Given the description of an element on the screen output the (x, y) to click on. 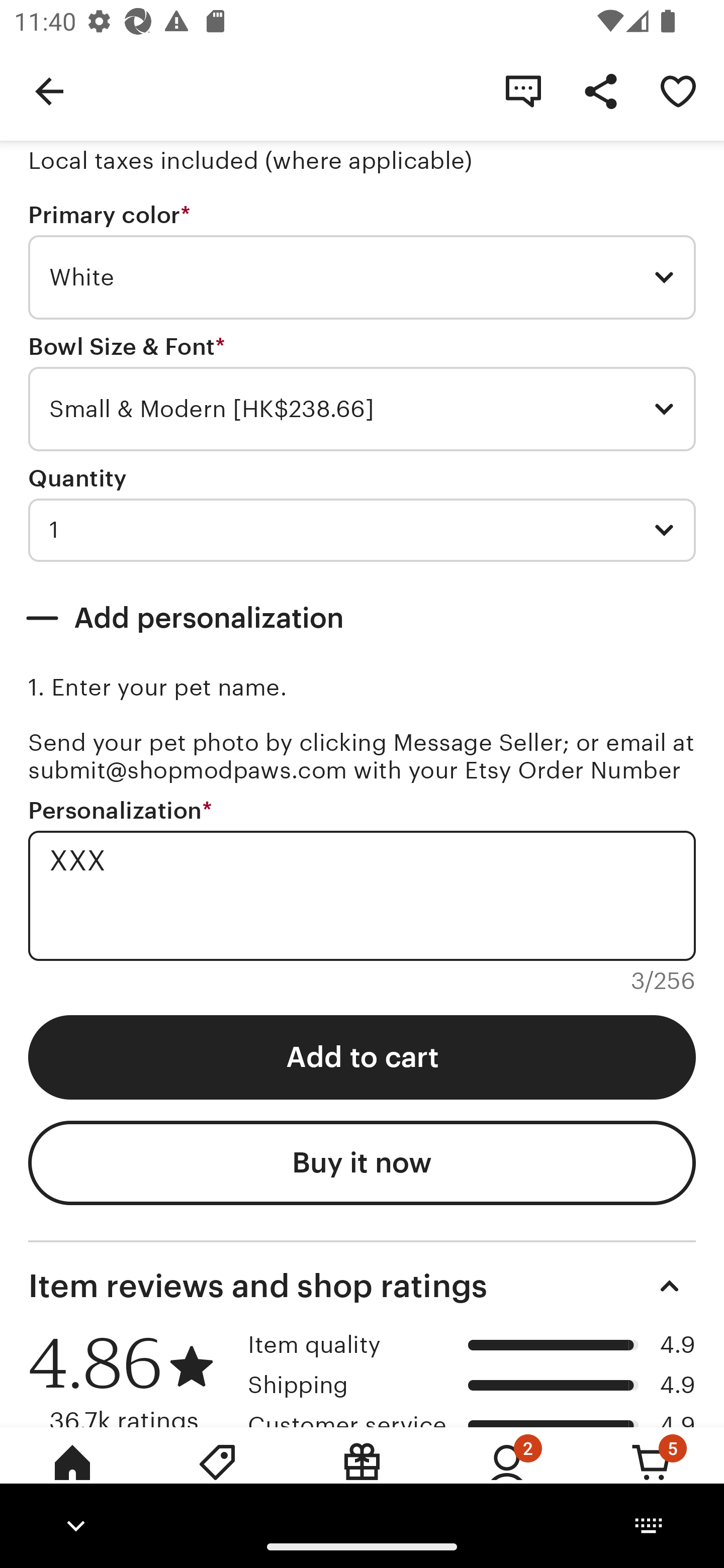
Navigate up (49, 90)
Contact shop (523, 90)
Share (600, 90)
Primary color * Required White (361, 260)
White (361, 277)
Small & Modern [HK$238.66] (361, 408)
Quantity (77, 477)
1 (361, 529)
Add personalization Add personalization Required (362, 617)
XXX (361, 896)
Add to cart (361, 1056)
Buy it now (361, 1163)
Item reviews and shop ratings (362, 1285)
Deals (216, 1475)
Gift Mode (361, 1475)
You, 2 new notifications (506, 1475)
Cart, 5 new notifications (651, 1475)
